Given the description of an element on the screen output the (x, y) to click on. 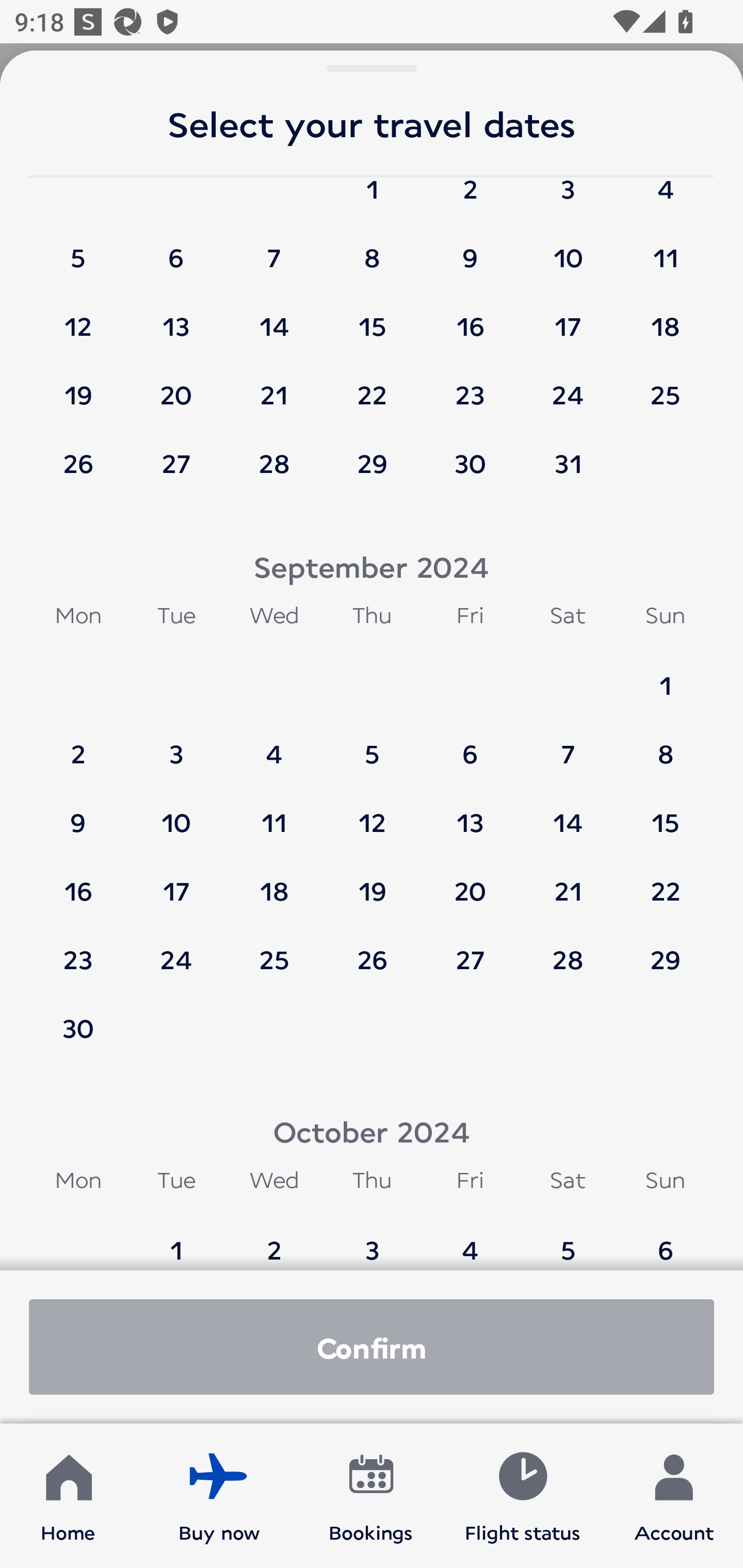
5 (77, 248)
6 (176, 248)
7 (274, 248)
8 (372, 248)
9 (470, 248)
10 (567, 248)
11 (665, 248)
12 (77, 316)
13 (176, 316)
14 (274, 316)
15 (372, 316)
16 (470, 316)
17 (567, 316)
18 (665, 316)
19 (77, 385)
20 (176, 385)
21 (274, 385)
22 (372, 385)
23 (470, 385)
24 (567, 385)
25 (665, 385)
26 (77, 463)
27 (176, 463)
28 (274, 463)
29 (372, 463)
30 (470, 463)
31 (567, 463)
1 (665, 675)
2 (77, 744)
3 (176, 744)
4 (274, 744)
5 (372, 744)
6 (470, 744)
7 (567, 744)
8 (665, 744)
9 (77, 812)
10 (176, 812)
11 (274, 812)
12 (372, 812)
13 (470, 812)
14 (567, 812)
15 (665, 812)
16 (77, 880)
17 (176, 880)
18 (274, 880)
19 (372, 880)
20 (470, 880)
21 (567, 880)
22 (665, 880)
23 (77, 949)
24 (176, 949)
25 (274, 949)
26 (372, 949)
27 (470, 949)
28 (567, 949)
29 (665, 949)
30 (77, 1027)
1 (176, 1237)
2 (274, 1237)
3 (372, 1237)
4 (470, 1237)
5 (567, 1237)
6 (665, 1237)
Confirm (371, 1346)
Home (68, 1495)
Bookings (370, 1495)
Flight status (522, 1495)
Account (674, 1495)
